Given the description of an element on the screen output the (x, y) to click on. 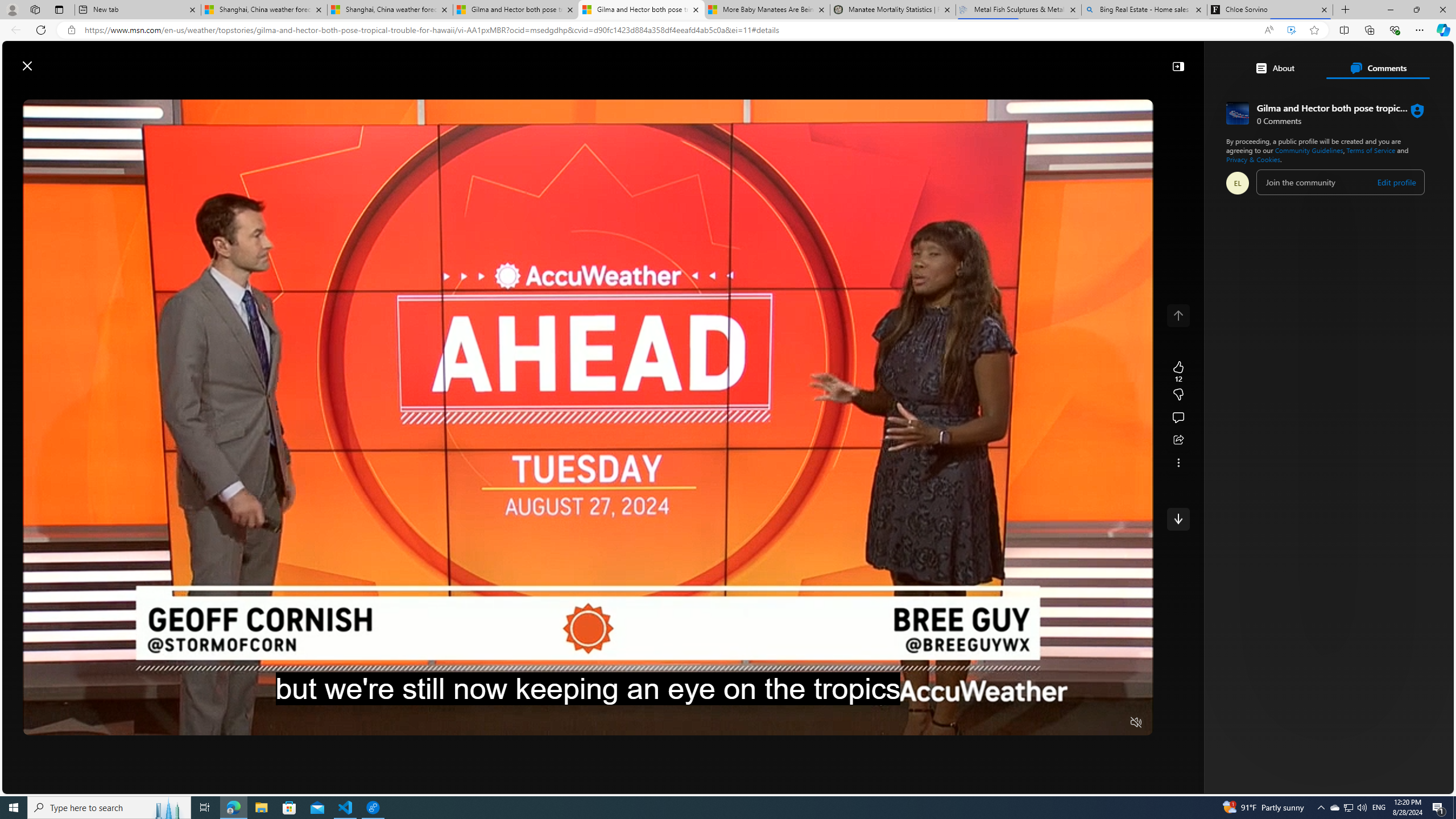
Profile Picture (1237, 182)
comment-box (1340, 181)
Privacy & Cookies (1252, 158)
Jack Carter Trading (1201, 601)
Comments (1377, 67)
